Given the description of an element on the screen output the (x, y) to click on. 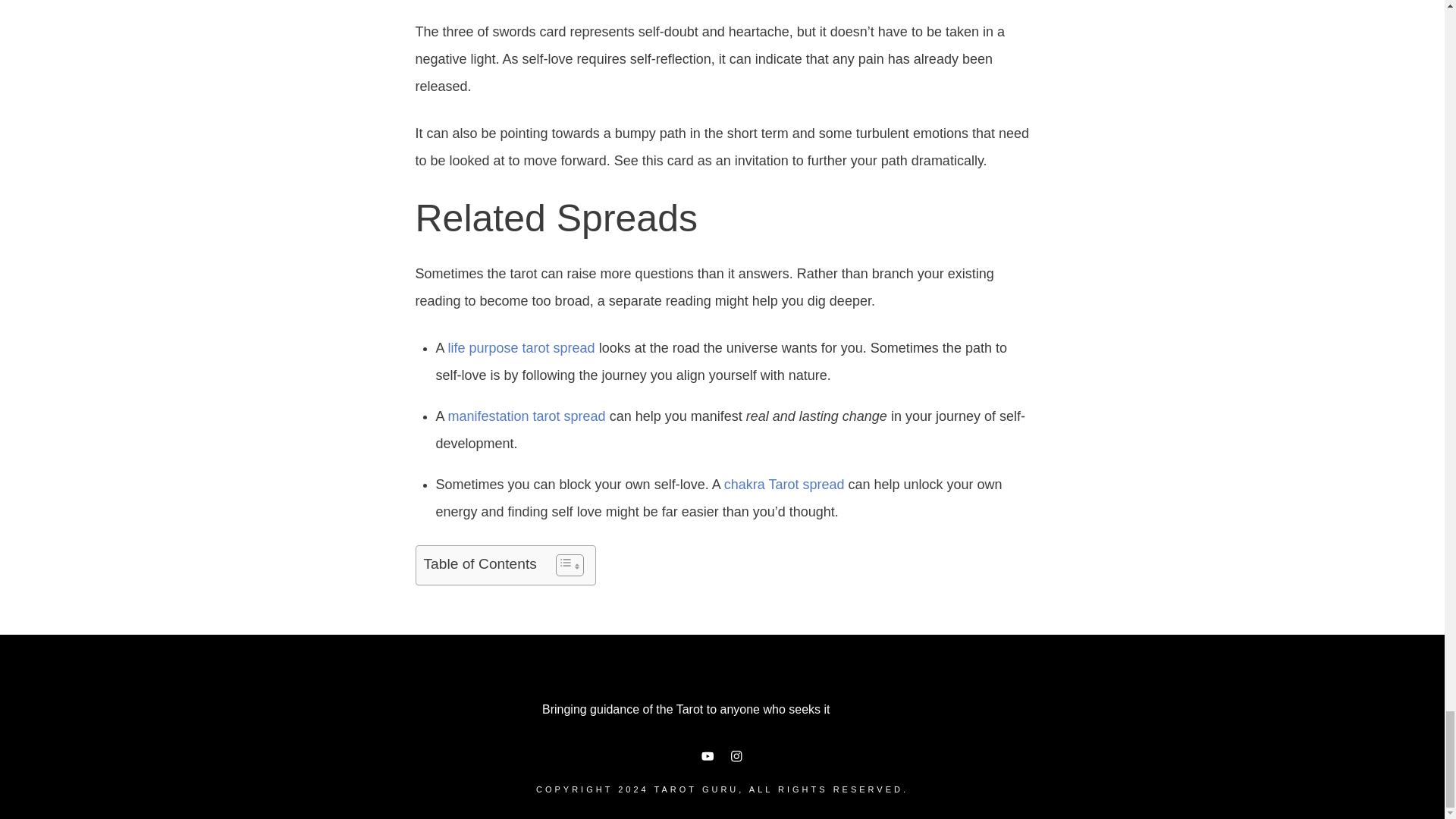
chakra Tarot spread (783, 484)
life purpose tarot spread (521, 347)
manifestation tarot spread (526, 416)
